Given the description of an element on the screen output the (x, y) to click on. 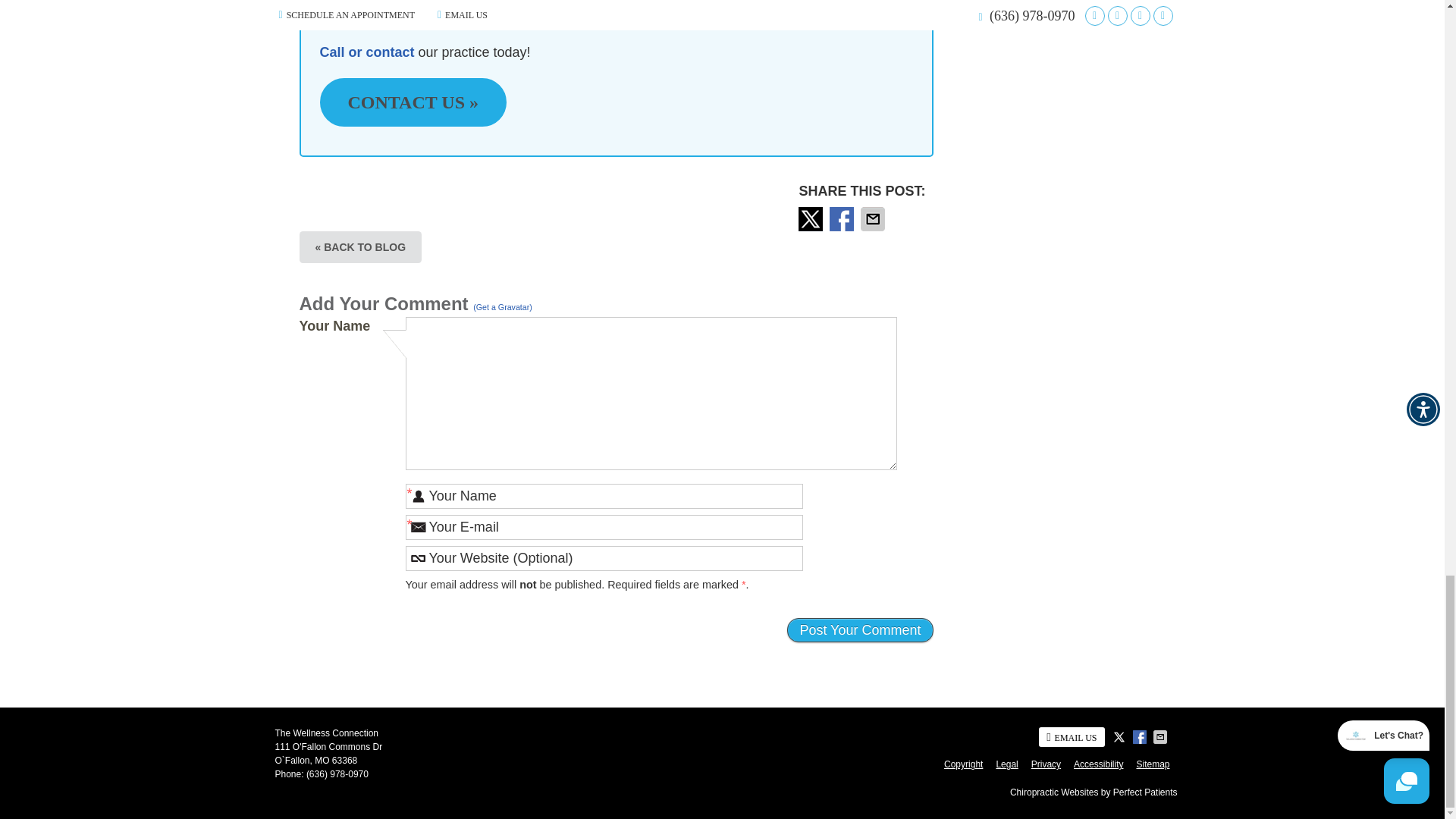
Your Name (603, 496)
Footer Links (1053, 763)
Post Your Comment (860, 630)
Your E-mail (603, 527)
Your Name (603, 496)
Your E-mail (603, 527)
Contact (1071, 736)
